Given the description of an element on the screen output the (x, y) to click on. 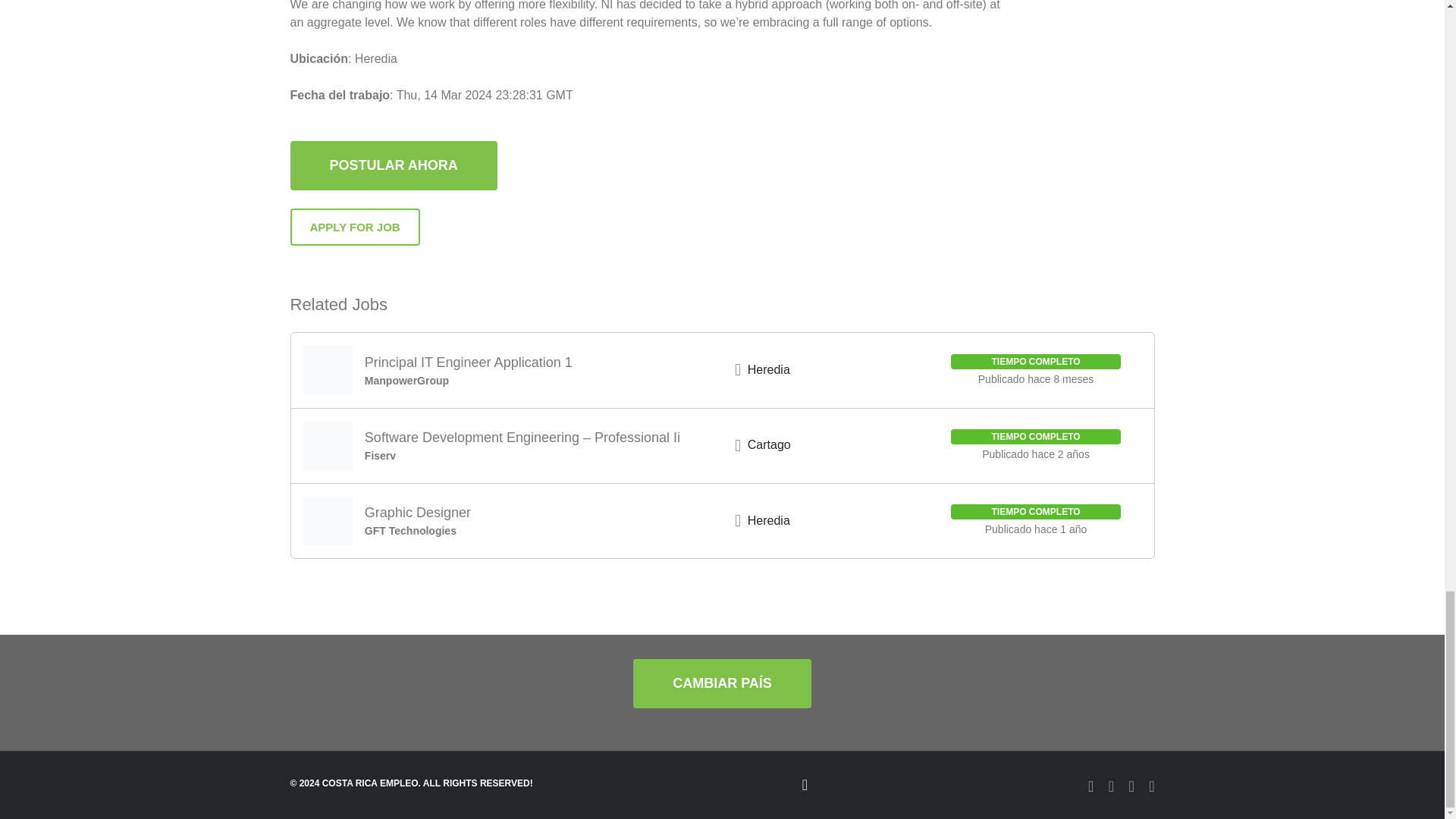
APPLY FOR JOB (354, 226)
POSTULAR AHORA (392, 165)
POSTULAR AHORA (392, 182)
Heredia (769, 369)
